Given the description of an element on the screen output the (x, y) to click on. 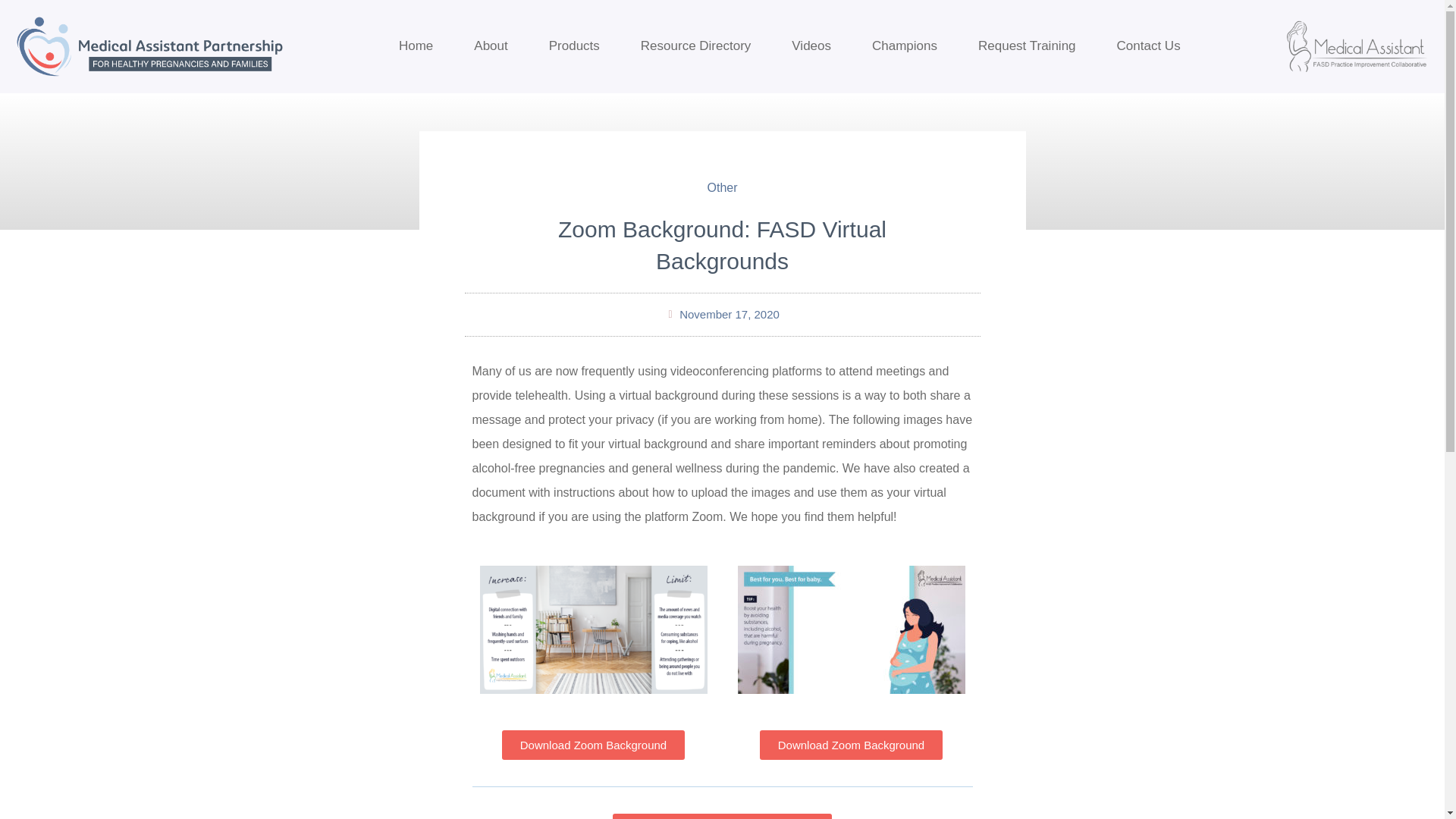
Download Zoom Background (851, 745)
Resource Directory (695, 45)
Other (721, 187)
Download Zoom Upload Instructions (722, 816)
About (489, 45)
Products (574, 45)
Home (415, 45)
Champions (904, 45)
Request Training (1027, 45)
November 17, 2020 (721, 314)
Videos (811, 45)
Contact Us (1148, 45)
Download Zoom Background (593, 745)
